Given the description of an element on the screen output the (x, y) to click on. 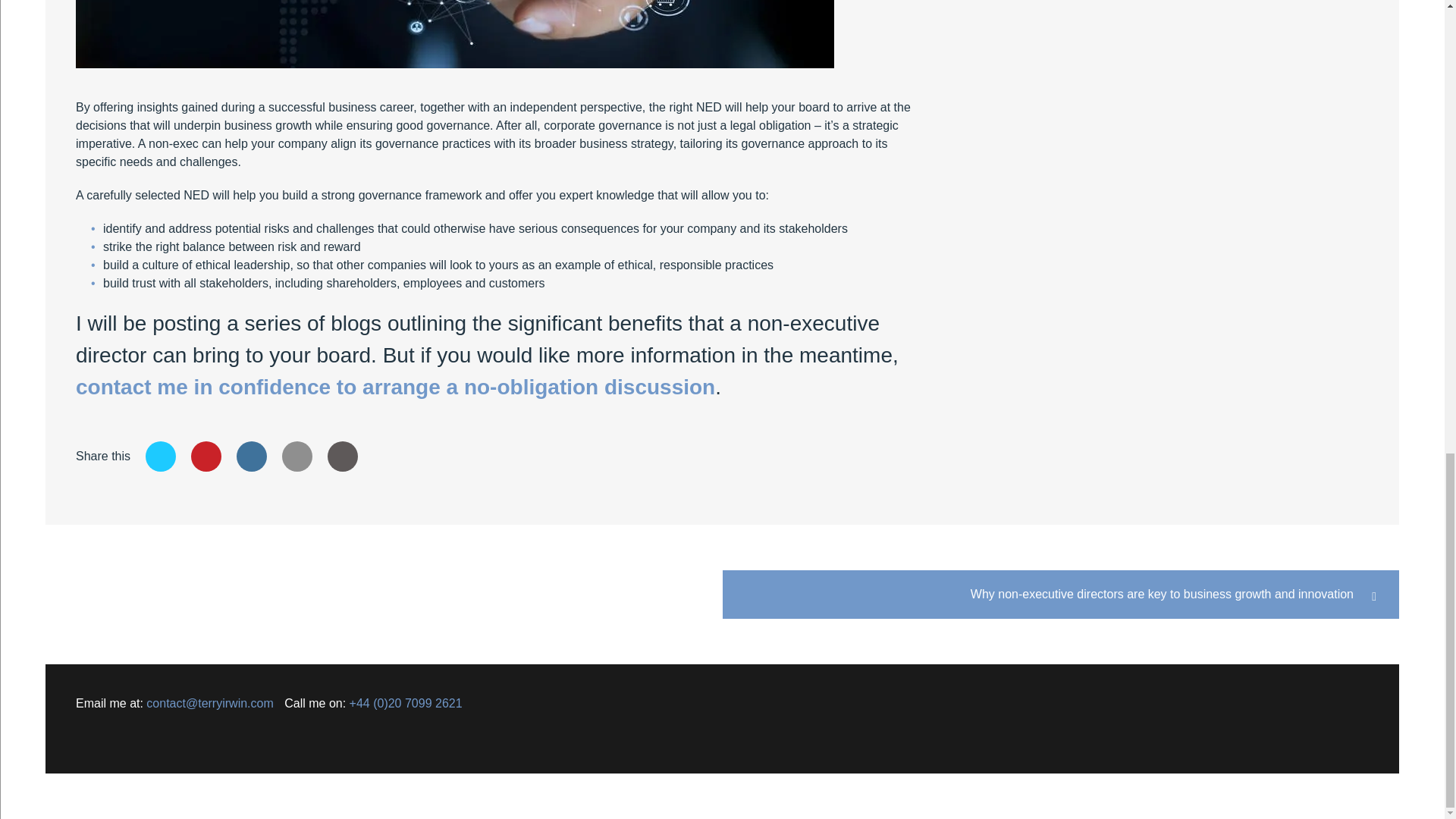
Print (342, 456)
Share on Pinterest (205, 456)
Hand-holding-compass (454, 33)
Share on LinkedIn (250, 456)
Share it on Email (297, 456)
Share on Twitter (160, 456)
